Given the description of an element on the screen output the (x, y) to click on. 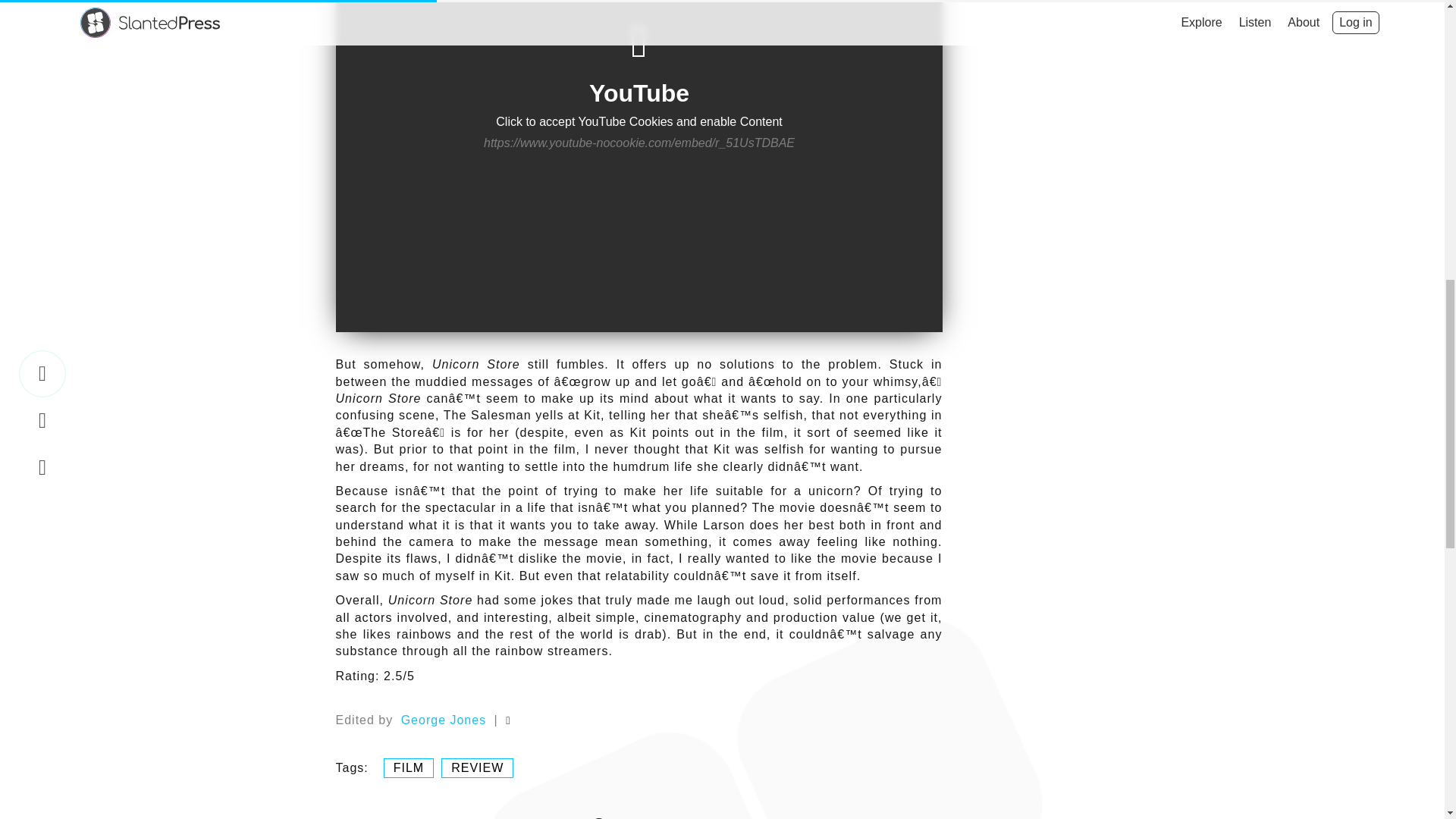
REVIEW (476, 767)
George Jones (443, 719)
FILM (409, 767)
